Given the description of an element on the screen output the (x, y) to click on. 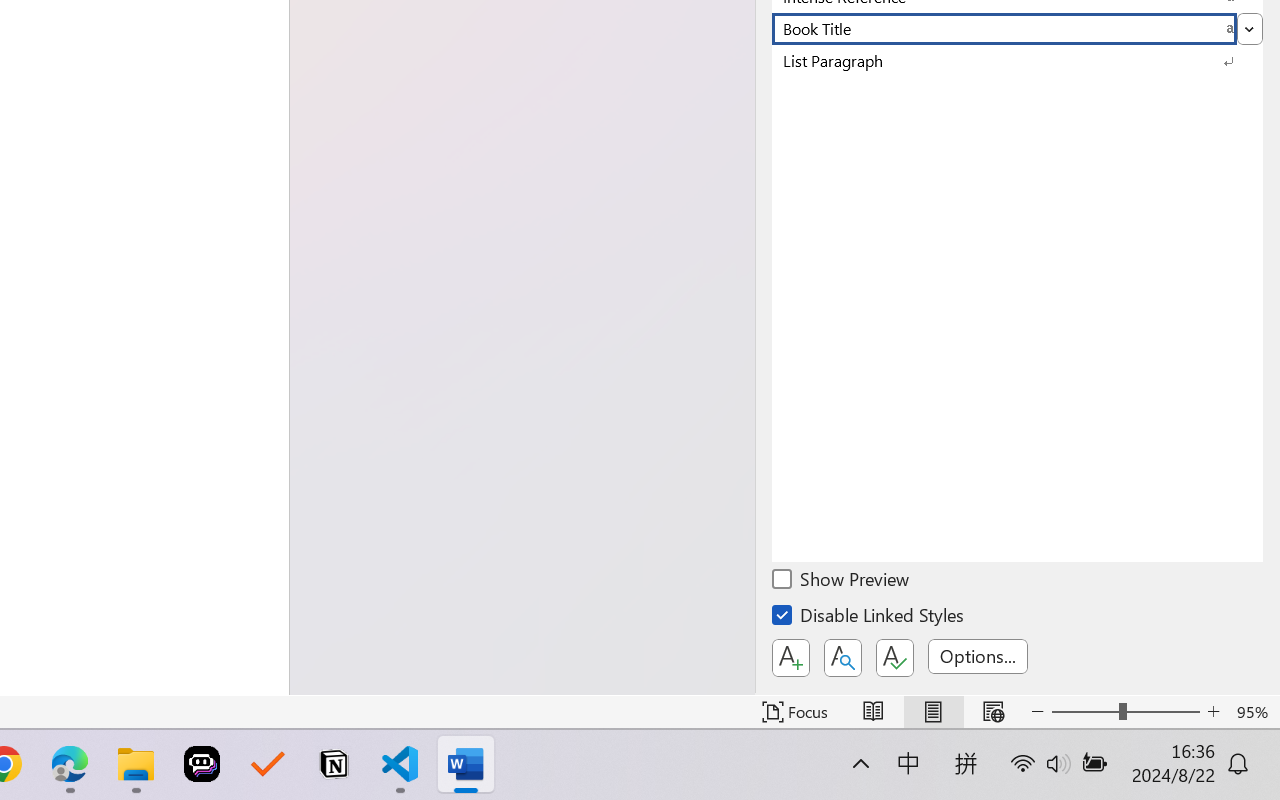
Disable Linked Styles (869, 618)
Options... (977, 656)
Class: NetUIButton (894, 657)
Show Preview (841, 582)
Zoom 95% (1253, 712)
Book Title (1017, 28)
List Paragraph (1017, 60)
